Given the description of an element on the screen output the (x, y) to click on. 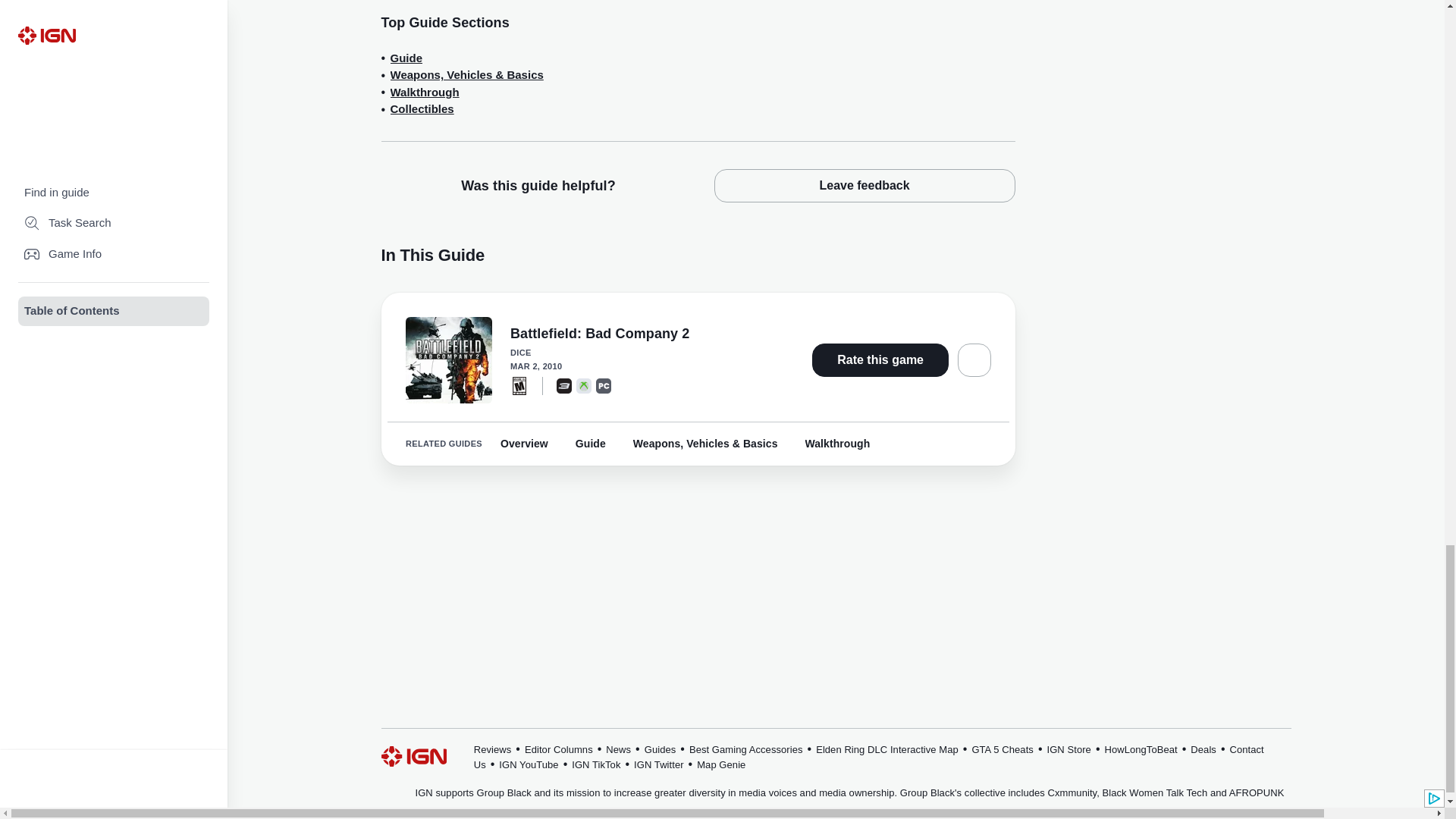
ESRB: Mature (518, 385)
Walkthrough (424, 92)
PC (603, 385)
Guide (406, 58)
Xbox 360 (583, 385)
PlayStation 3 (564, 385)
